Given the description of an element on the screen output the (x, y) to click on. 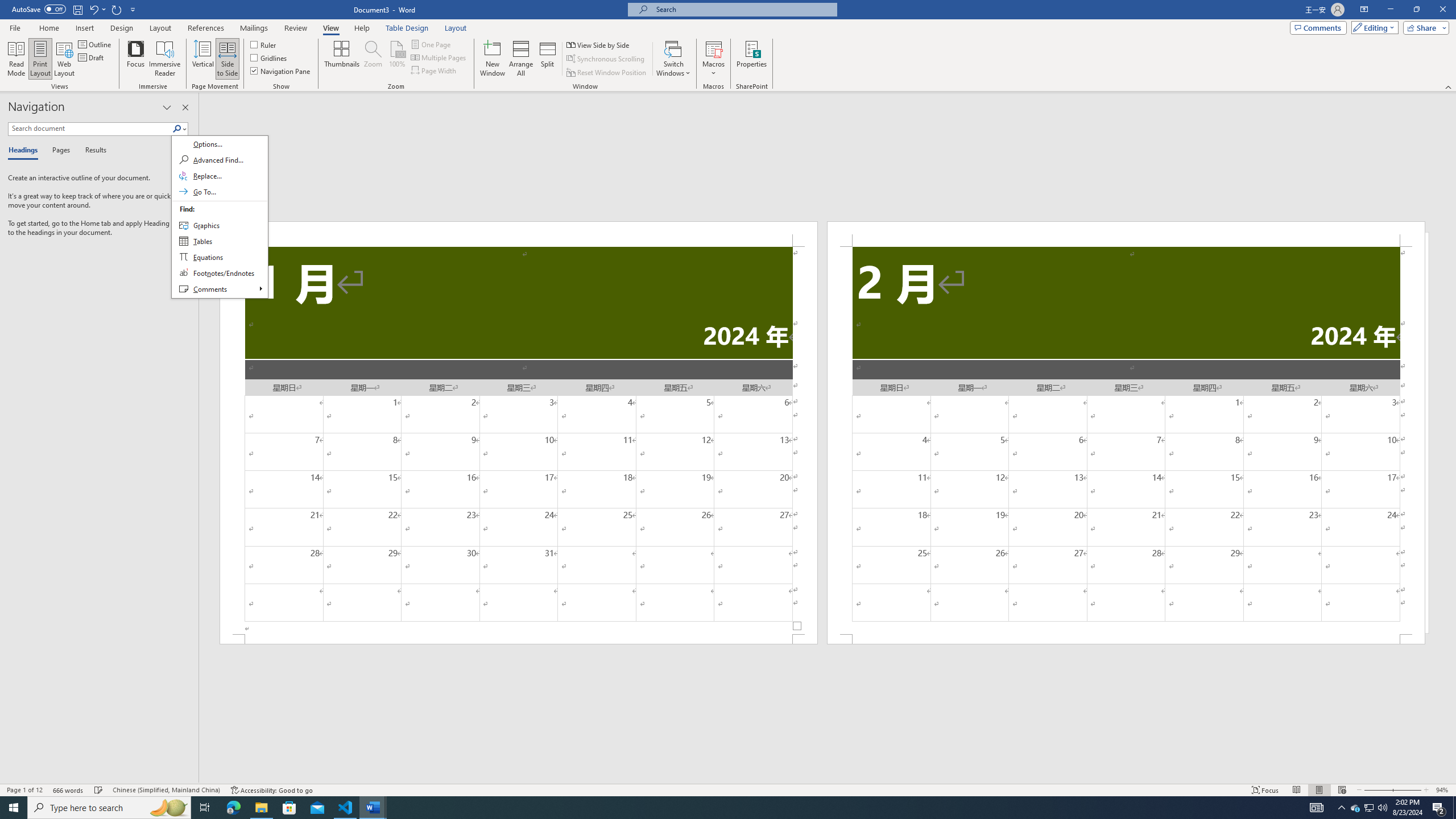
Visual Studio Code - 1 running window (345, 807)
Thumbnails (342, 58)
Undo Increase Indent (92, 9)
Multiple Pages (439, 56)
Synchronous Scrolling (605, 58)
Search (179, 128)
Class: NetUIScrollBar (827, 778)
Navigation Pane (281, 69)
More Options (713, 68)
Mode (1372, 27)
Minimize (1390, 9)
Spelling and Grammar Check Checking (98, 790)
References (205, 28)
Type here to search (108, 807)
